Given the description of an element on the screen output the (x, y) to click on. 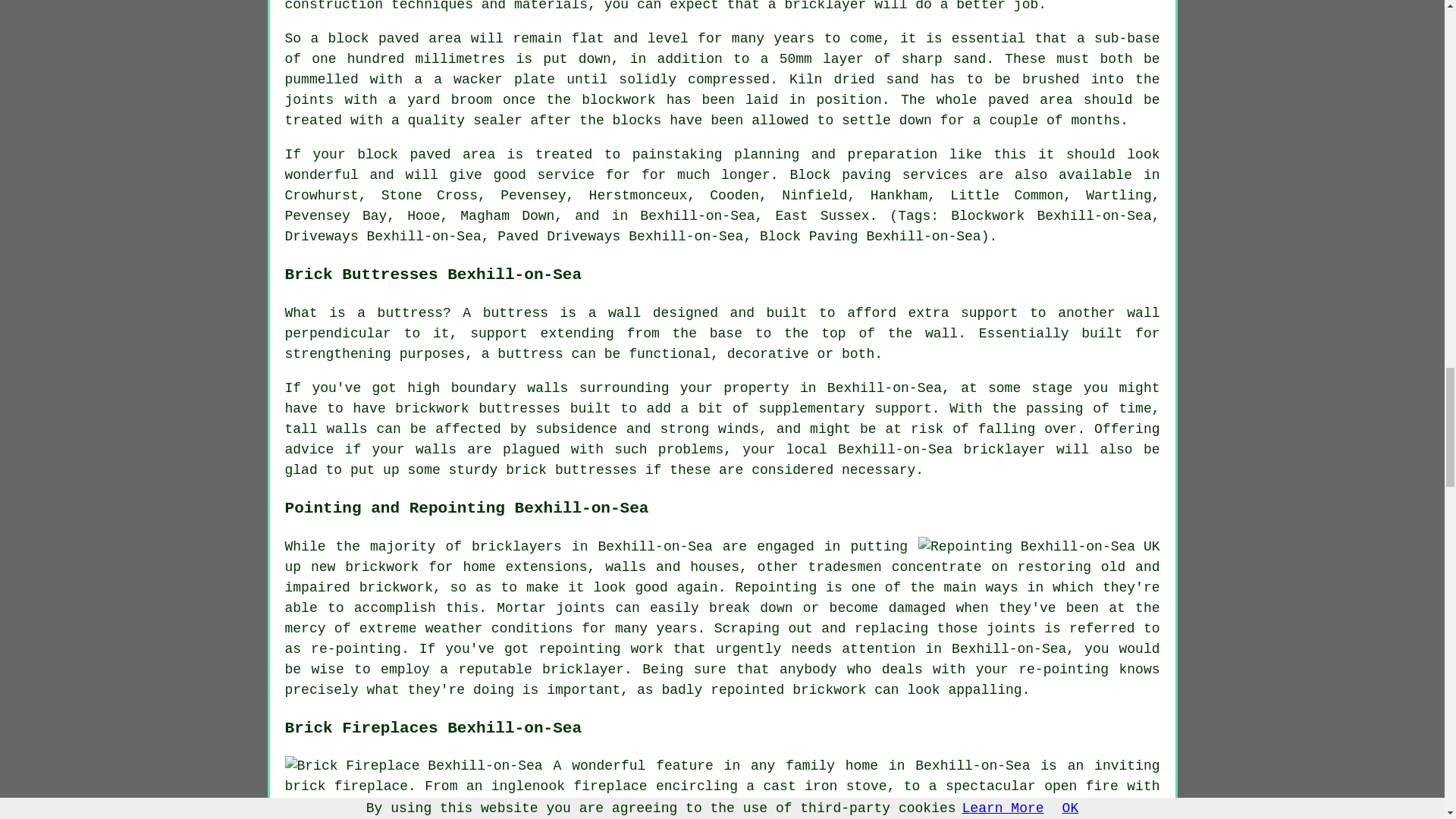
Repointing Bexhill-on-Sea UK (1038, 547)
Brick Fireplace Bexhill-on-Sea (414, 765)
